Given the description of an element on the screen output the (x, y) to click on. 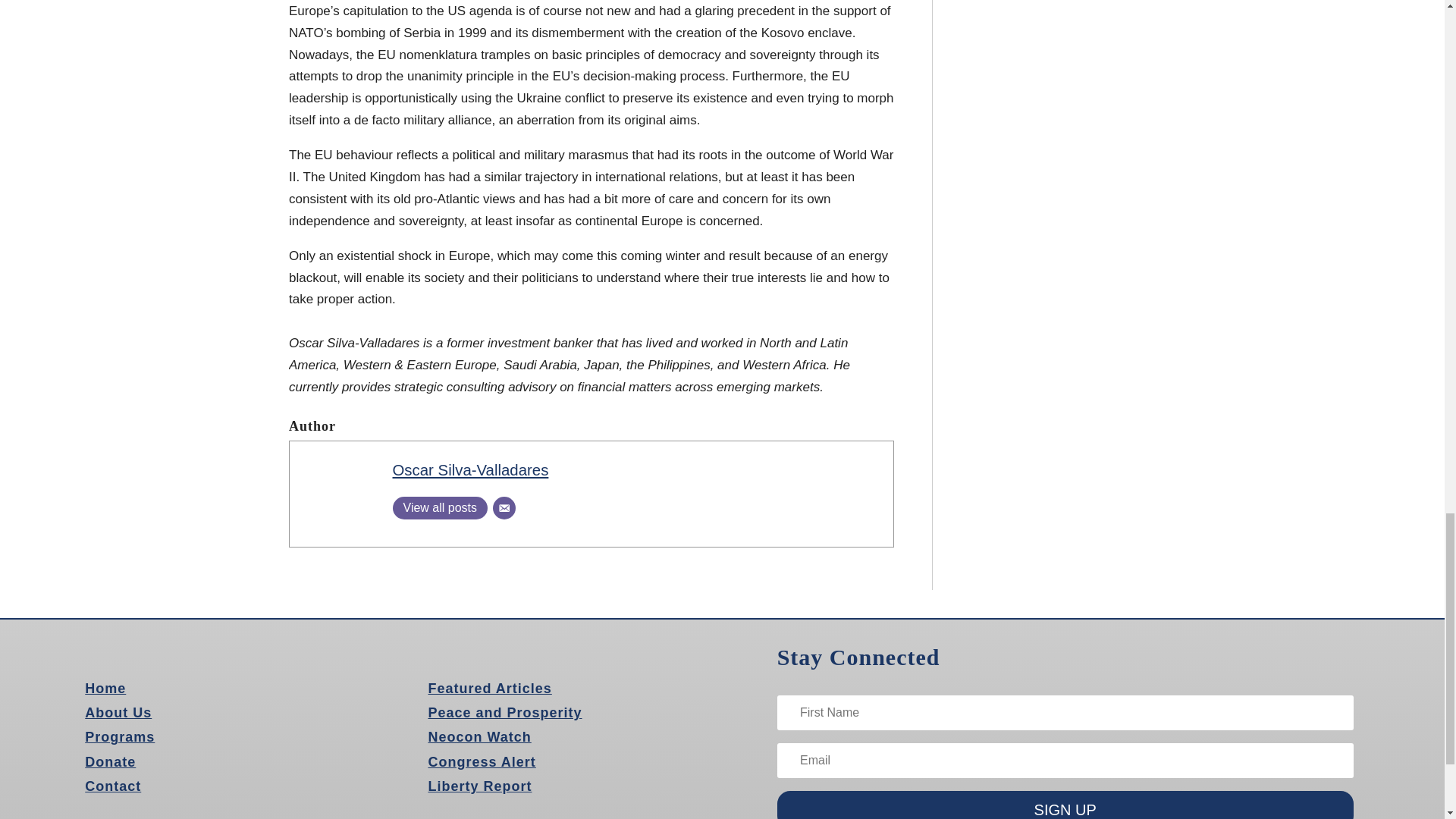
Oscar Silva-Valladares (470, 469)
View all posts (440, 507)
Oscar Silva-Valladares (470, 469)
View all posts (440, 507)
